Given the description of an element on the screen output the (x, y) to click on. 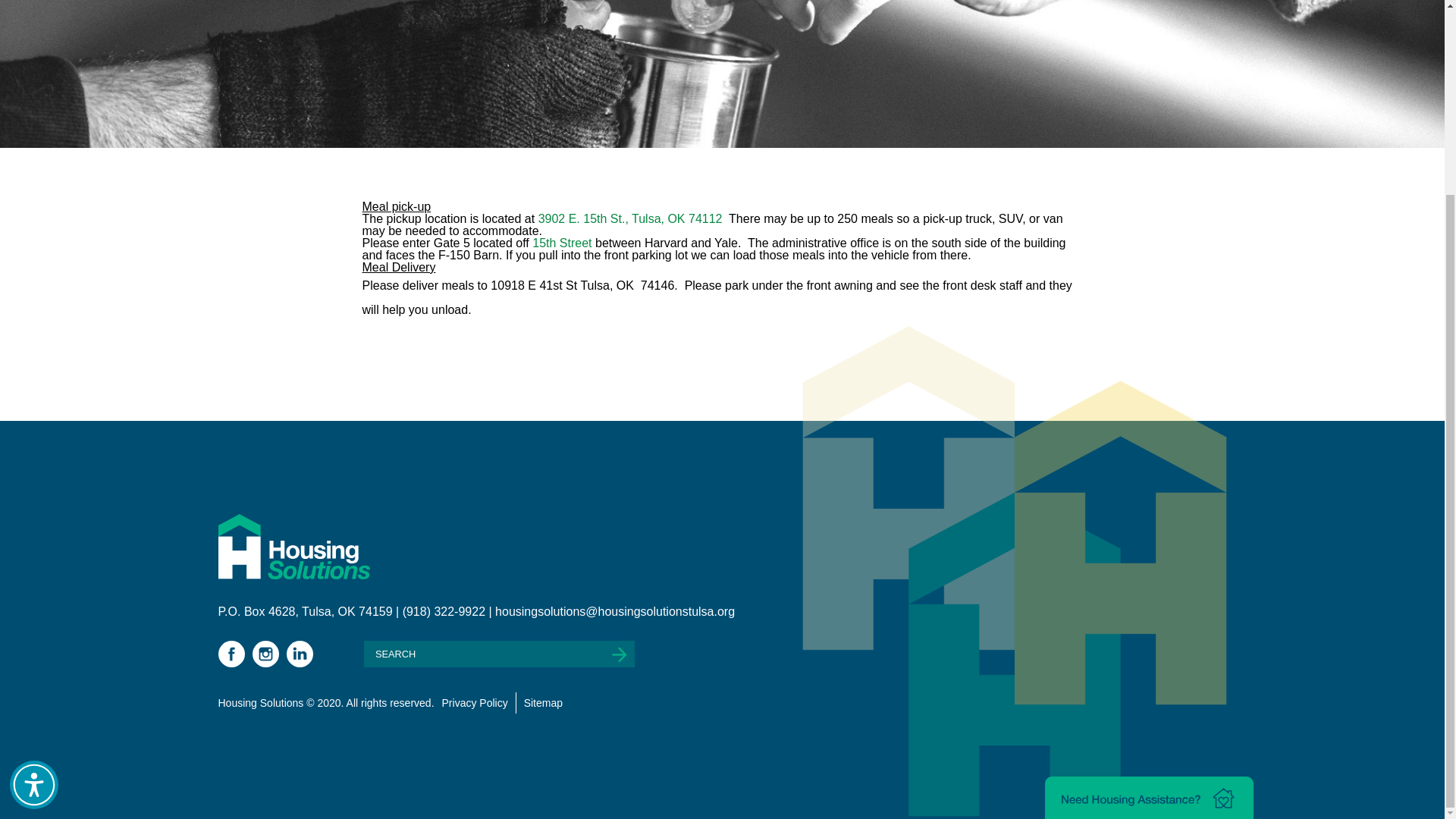
Accessibility Menu (34, 539)
